Given the description of an element on the screen output the (x, y) to click on. 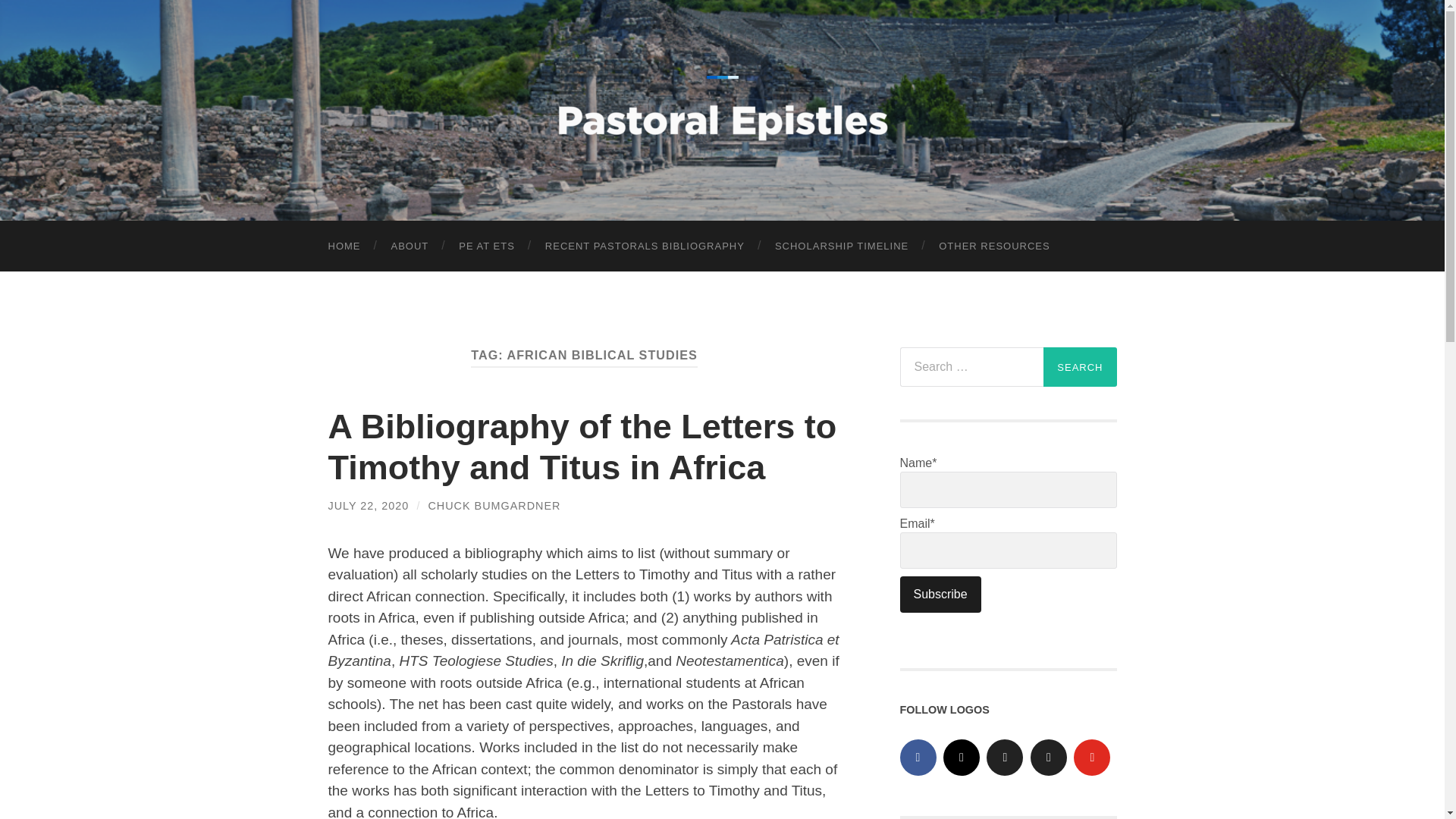
PE AT ETS (486, 245)
SCHOLARSHIP TIMELINE (841, 245)
Pastoral Epistles (722, 108)
JULY 22, 2020 (368, 505)
Facebook (917, 757)
Instagram (961, 757)
Search (1079, 366)
ABOUT (409, 245)
Search (1079, 366)
Posts by Chuck Bumgardner (494, 505)
Search (1079, 366)
instagram (961, 757)
YouTube (1091, 757)
HOME (344, 245)
CHUCK BUMGARDNER (494, 505)
